Given the description of an element on the screen output the (x, y) to click on. 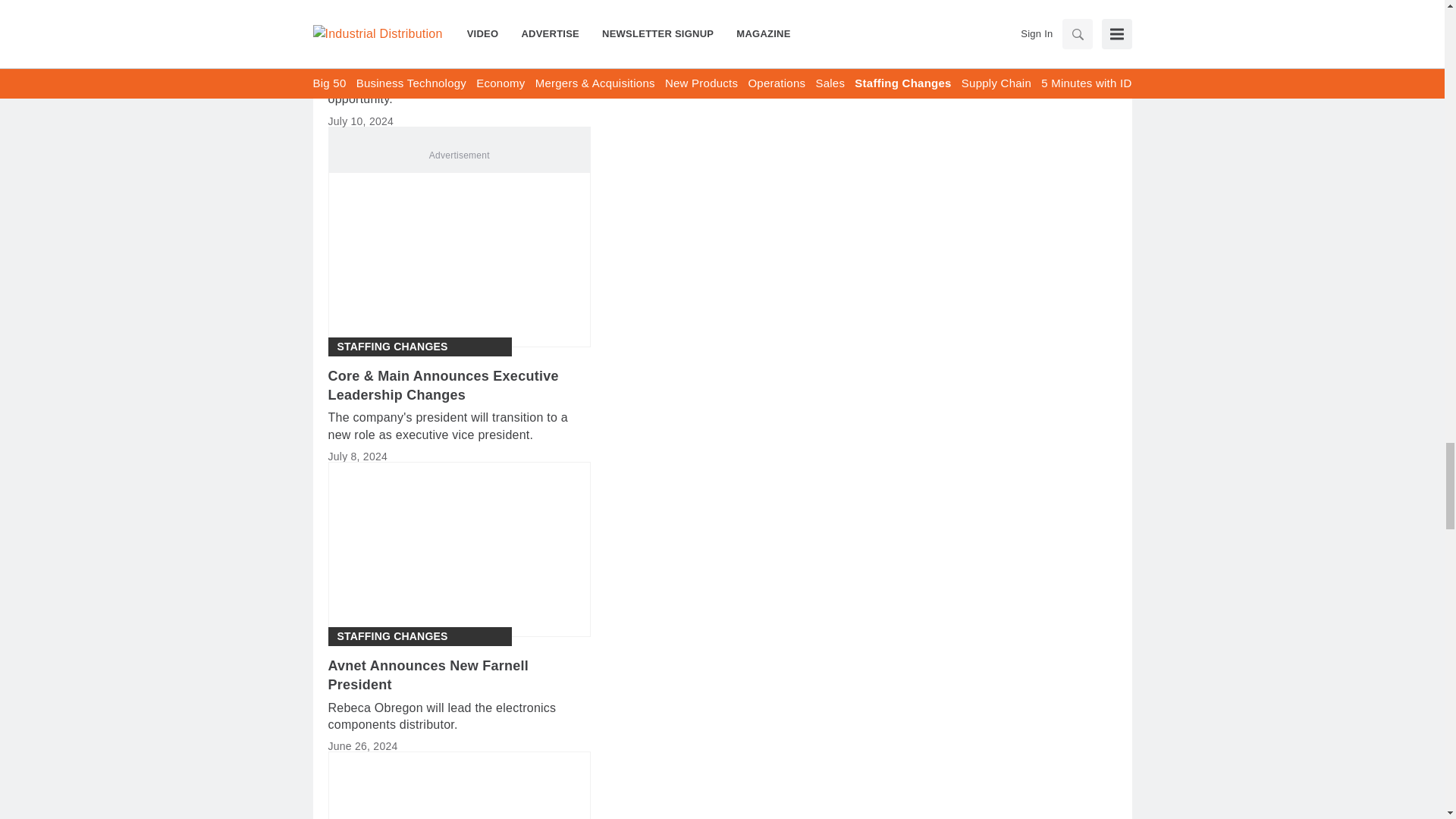
Staffing Changes (391, 346)
Staffing Changes (391, 12)
